Given the description of an element on the screen output the (x, y) to click on. 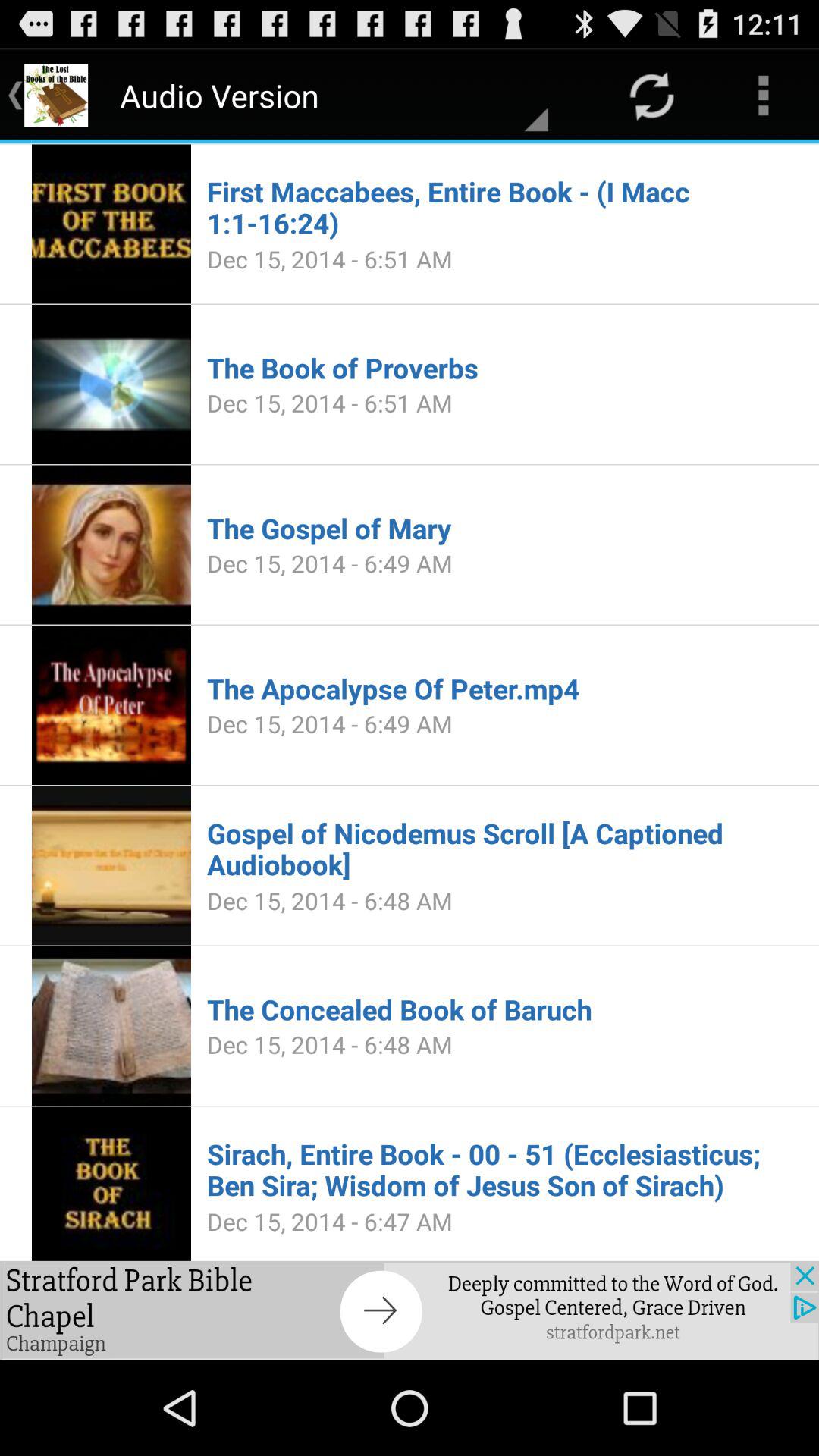
toggle to advertisement box (409, 1310)
